Given the description of an element on the screen output the (x, y) to click on. 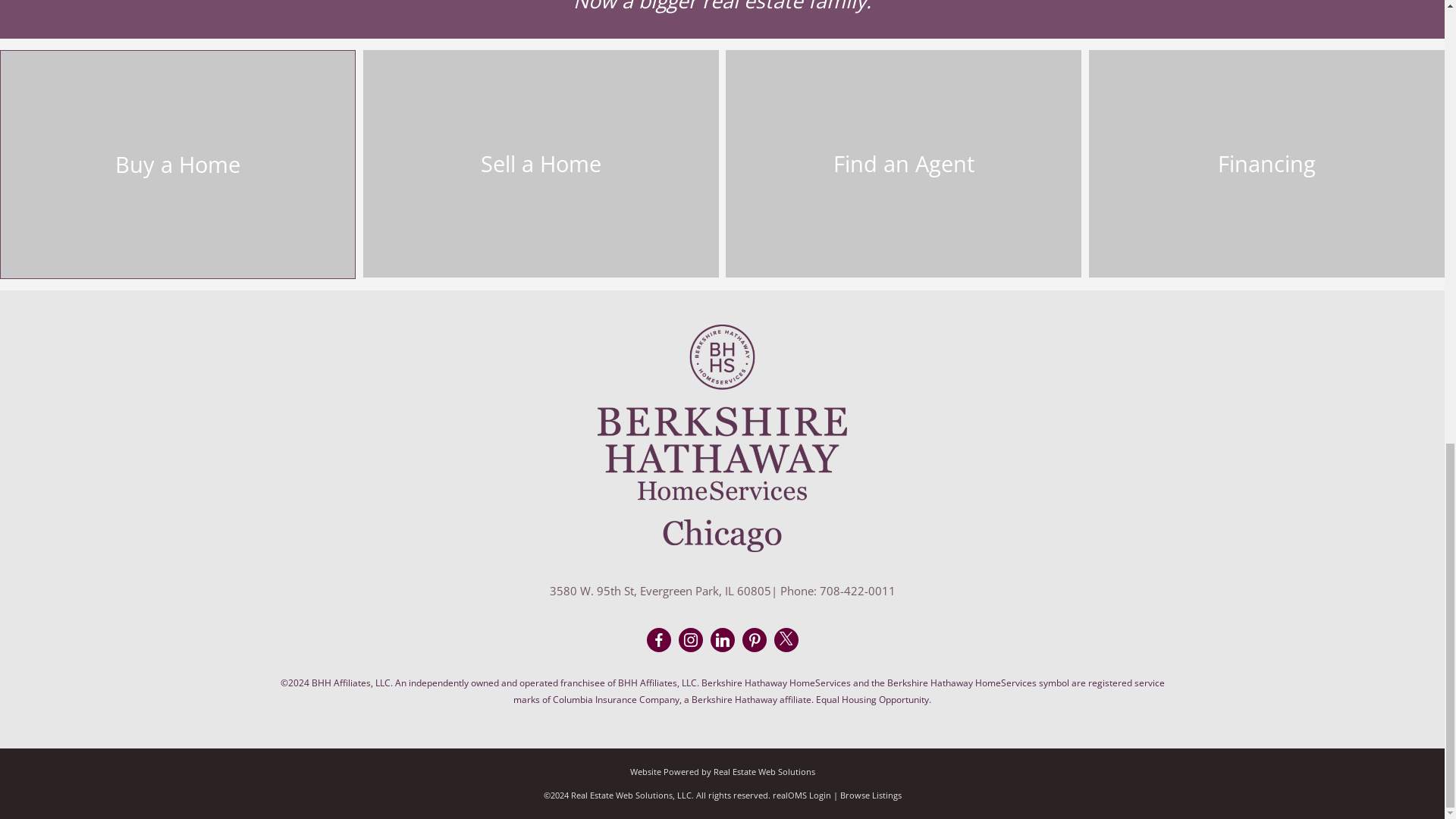
Visit us on LinkedIn (722, 640)
Visit us on Instagram (690, 640)
Visit us on Pinterest (754, 640)
Visit us on Facebook (658, 640)
